Given the description of an element on the screen output the (x, y) to click on. 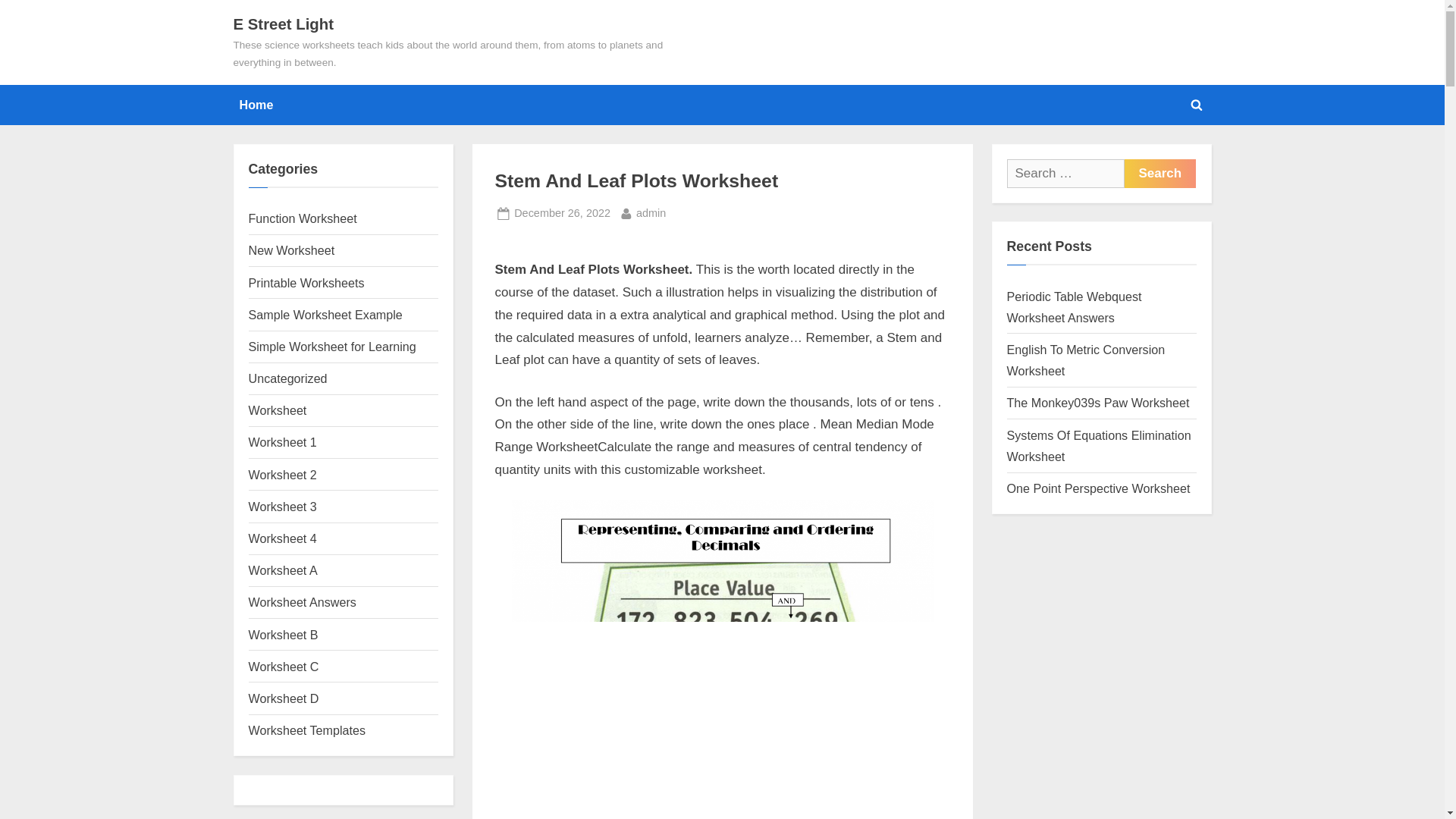
Printable Worksheets (306, 282)
Uncategorized (287, 377)
Sample Worksheet Example (325, 314)
Worksheet 2 (282, 474)
Worksheet 3 (282, 506)
Search (1159, 173)
Search (1159, 173)
New Worksheet (291, 250)
Worksheet C (283, 666)
Worksheet 1 (282, 441)
Worksheet 4 (650, 212)
E Street Light (282, 538)
Simple Worksheet for Learning (283, 23)
Worksheet (332, 345)
